Given the description of an element on the screen output the (x, y) to click on. 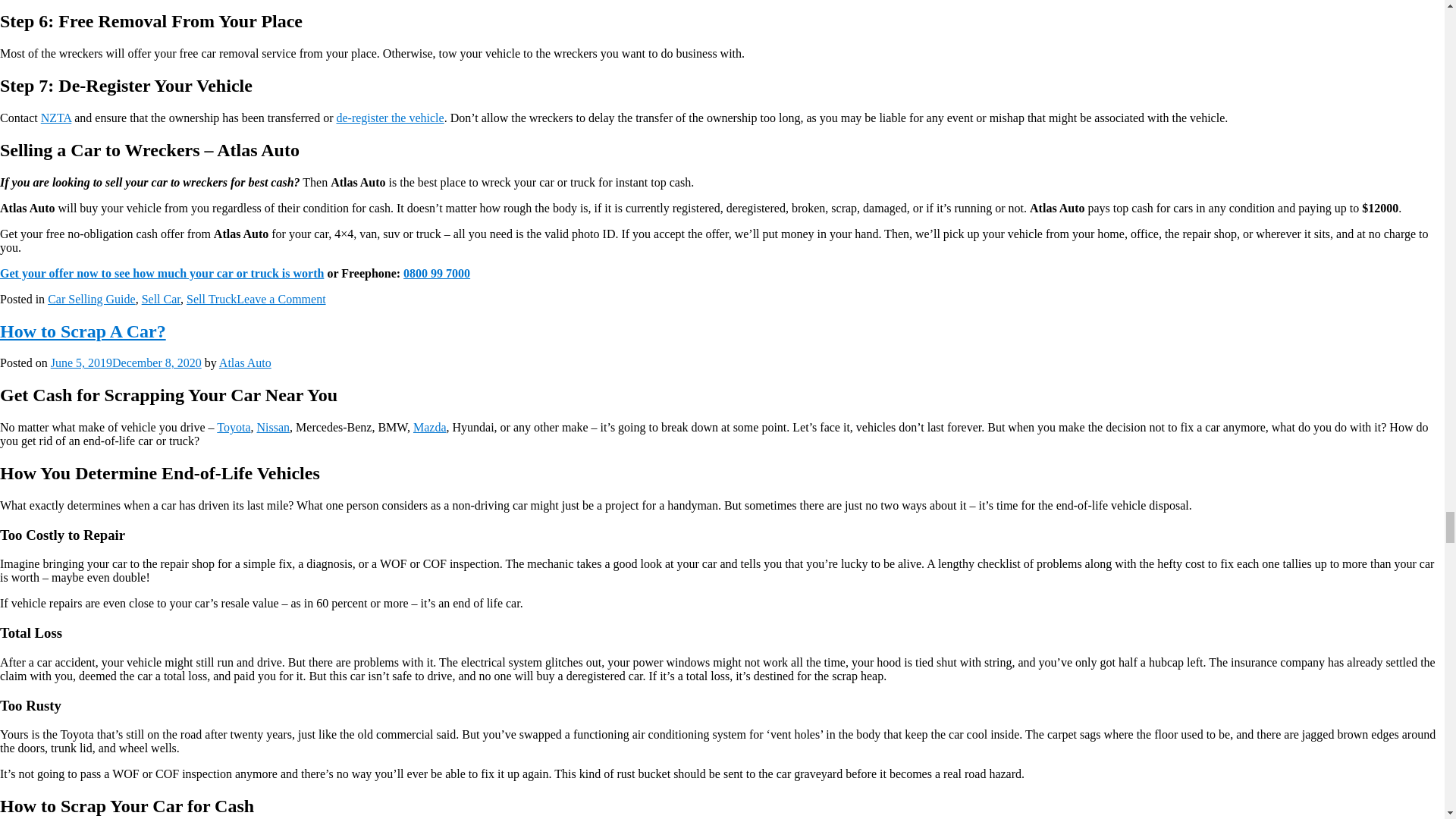
Scrap Nissan Car (272, 427)
Scrap Toyota Car (233, 427)
Scrap Mazda Car (429, 427)
